Given the description of an element on the screen output the (x, y) to click on. 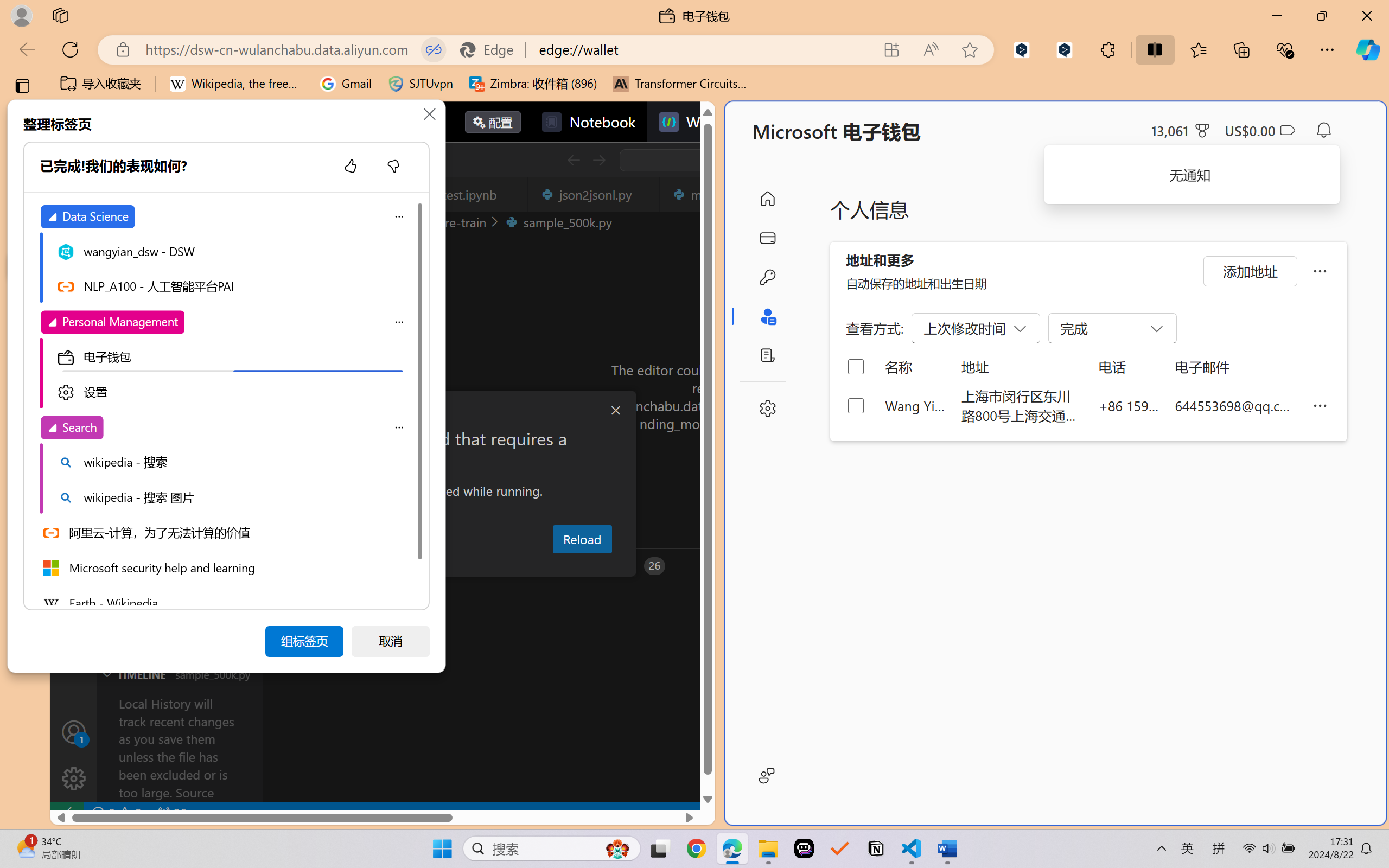
Wang Yian (914, 405)
Class: ScrollBarViews (418, 402)
Tab actions (644, 194)
wangyian_dsw - DSW (231, 250)
Transformer Circuits Thread (680, 83)
Close (Ctrl+F4) (644, 194)
Reload (581, 538)
